Given the description of an element on the screen output the (x, y) to click on. 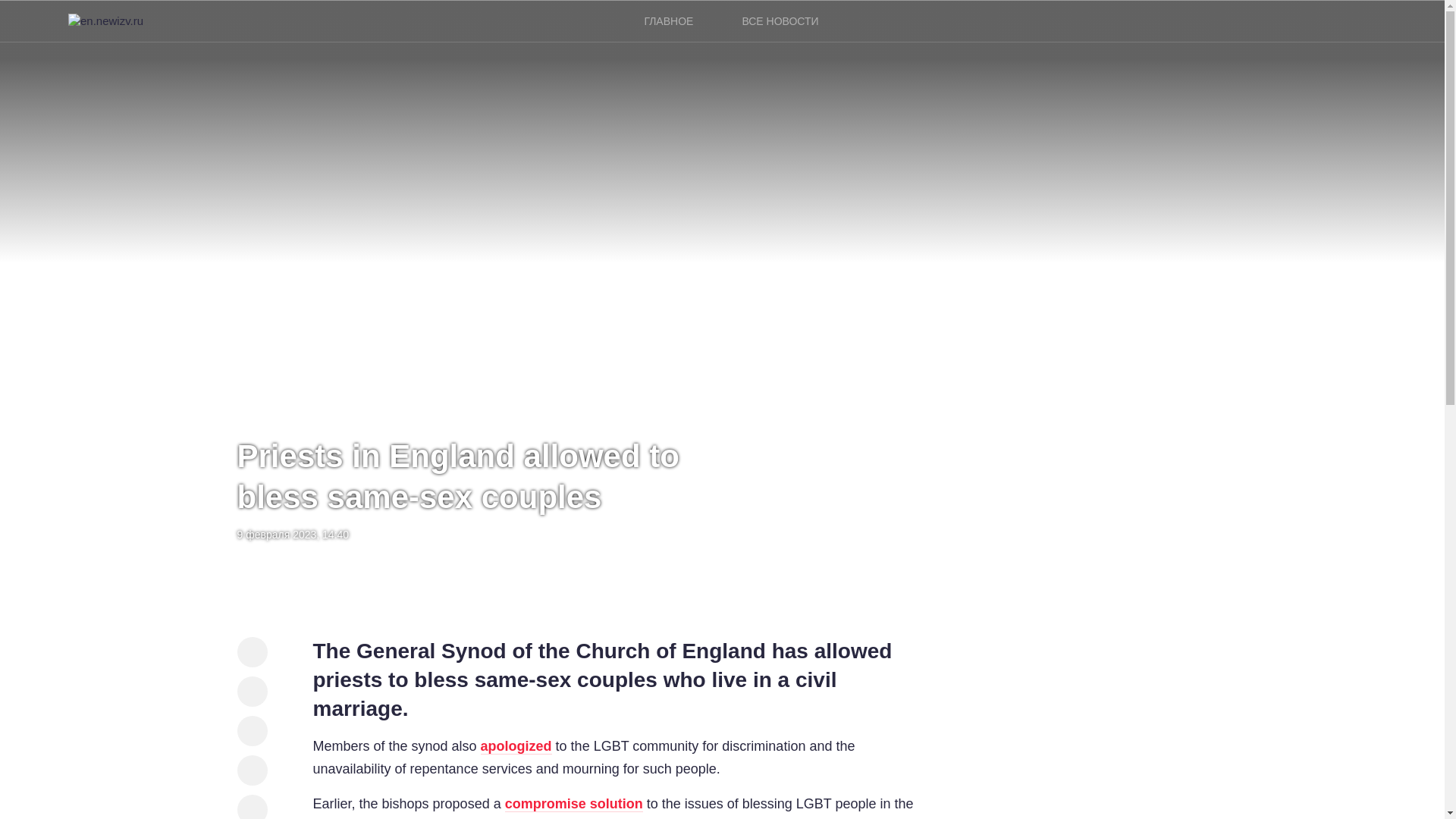
compromise solution (574, 804)
apologized (515, 746)
